Given the description of an element on the screen output the (x, y) to click on. 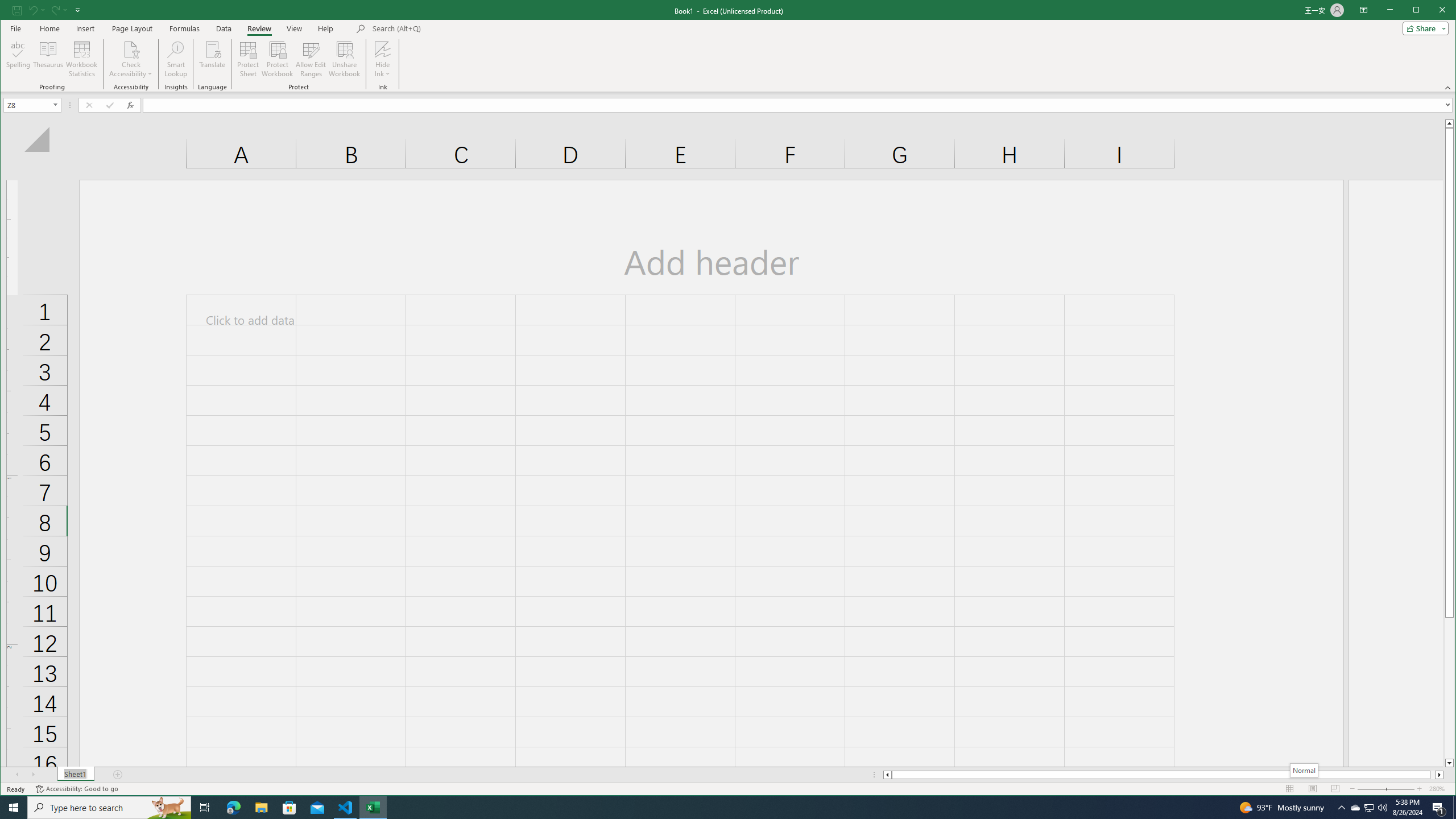
Notification Chevron (1341, 807)
Smart Lookup (176, 59)
Action Center, 1 new notification (1439, 807)
Task View (204, 807)
Show desktop (1454, 807)
Line down (1449, 763)
Hide Ink (382, 59)
File Explorer (261, 807)
Workbook Statistics (82, 59)
Home (49, 28)
Excel - 1 running window (373, 807)
